Given the description of an element on the screen output the (x, y) to click on. 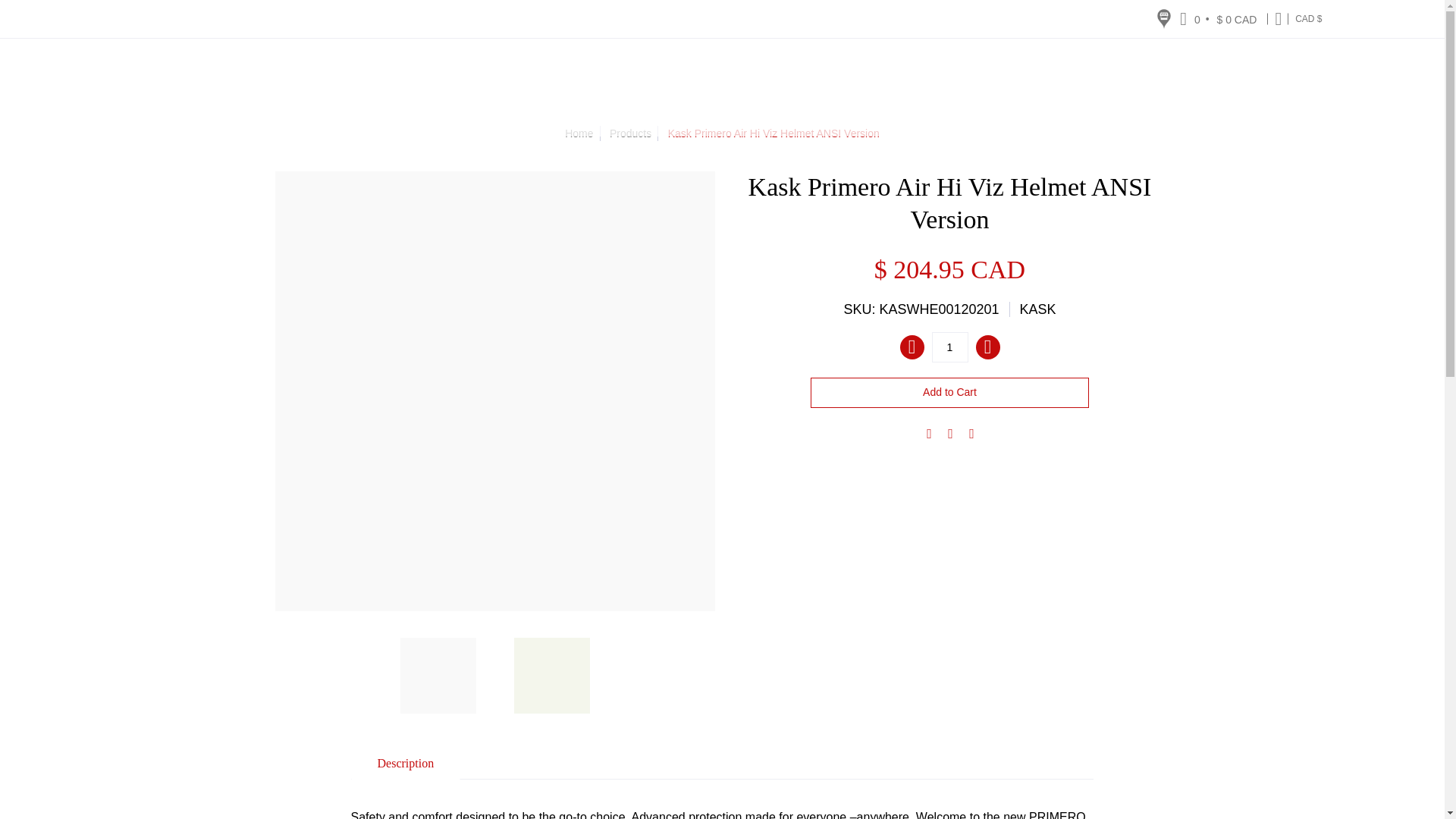
Add to Cart (949, 392)
Cart (1218, 18)
1 (949, 347)
Update store currency (1307, 18)
